Given the description of an element on the screen output the (x, y) to click on. 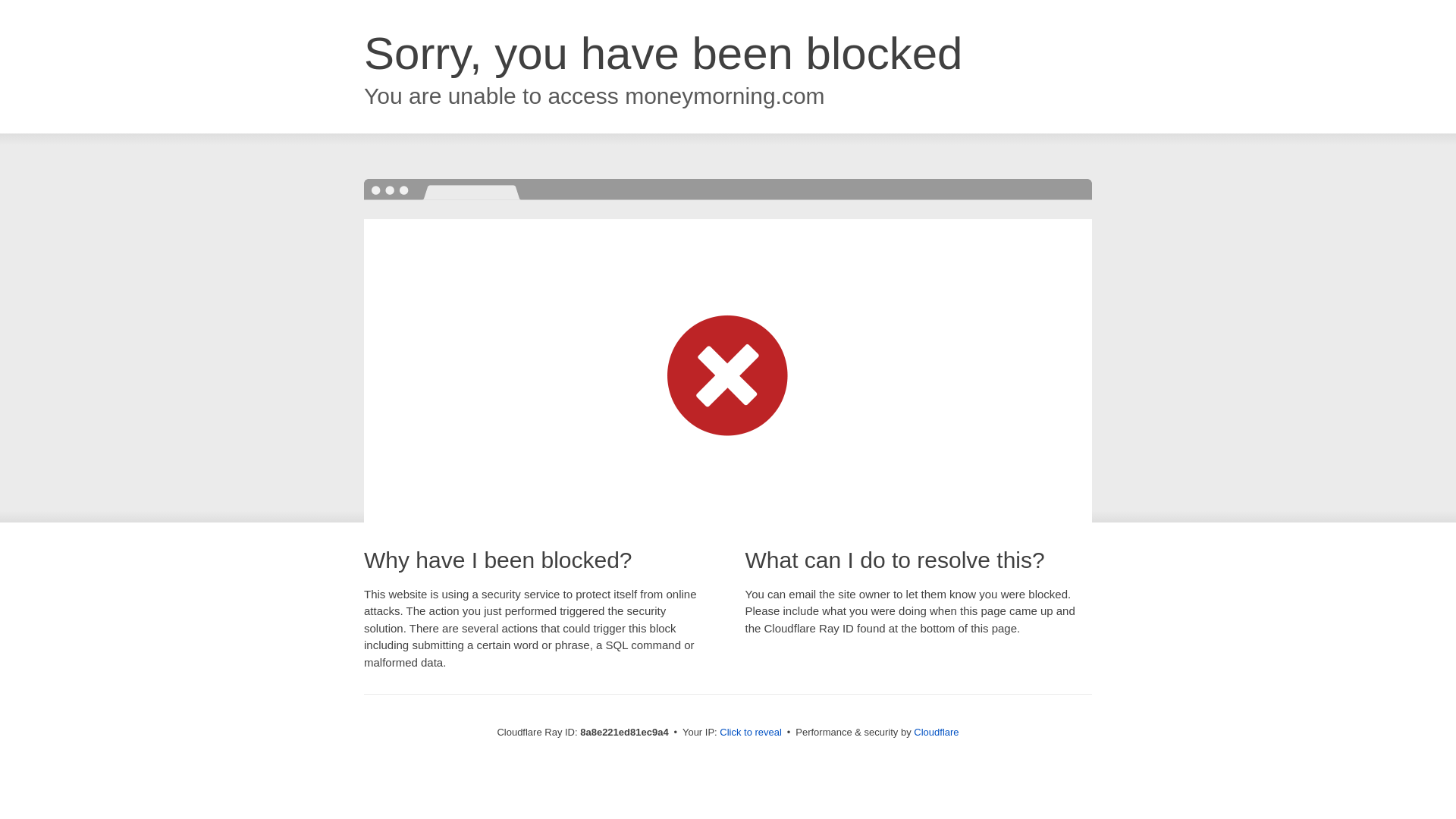
Click to reveal (750, 732)
Cloudflare (936, 731)
